Given the description of an element on the screen output the (x, y) to click on. 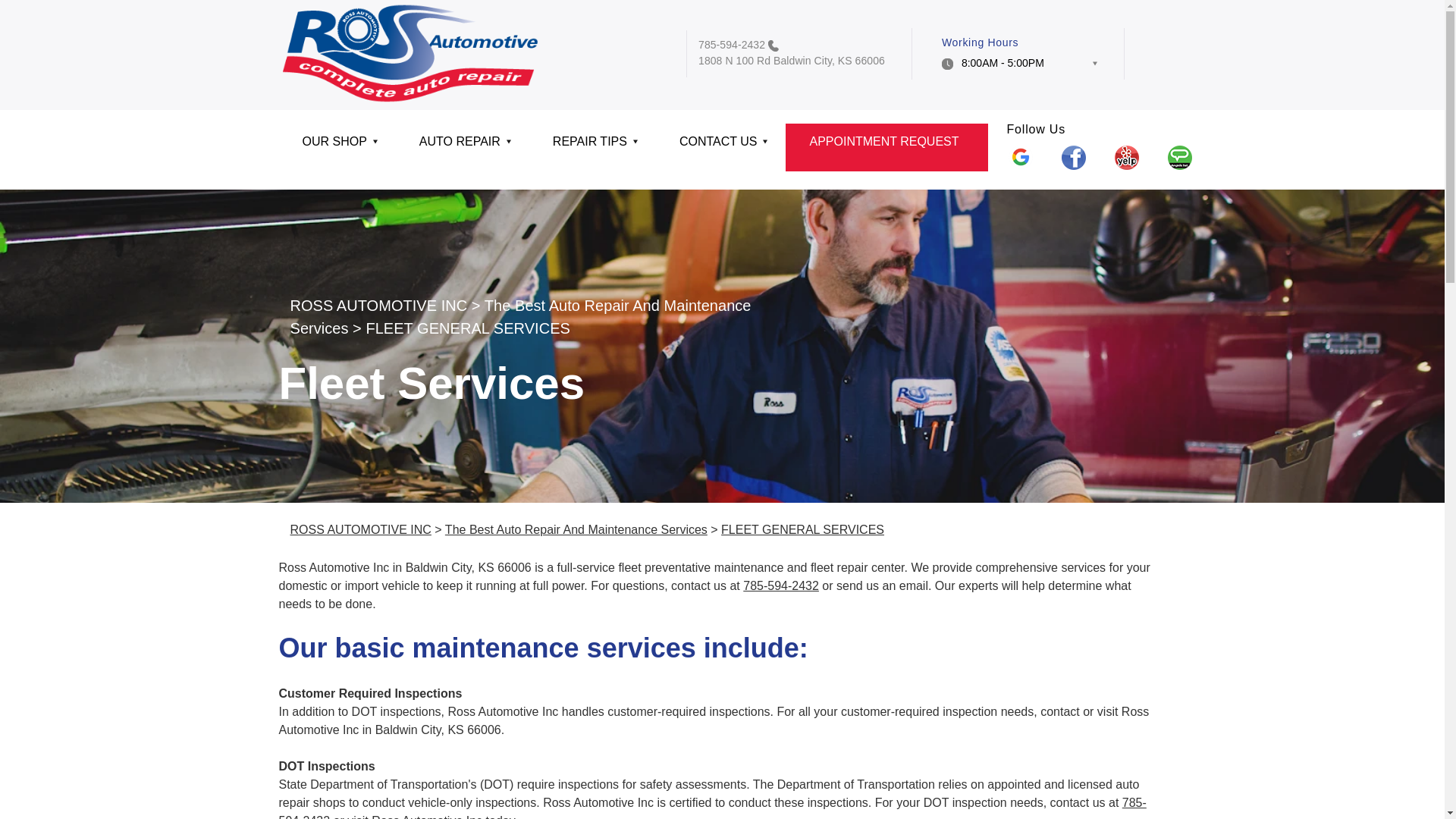
CONTACT US (721, 147)
REPAIR TIPS (592, 147)
APPOINTMENT REQUEST (886, 147)
AUTO REPAIR (462, 147)
OUR SHOP (337, 147)
785-594-2432 (731, 44)
8:00AM - 5:00PM (1019, 67)
